Given the description of an element on the screen output the (x, y) to click on. 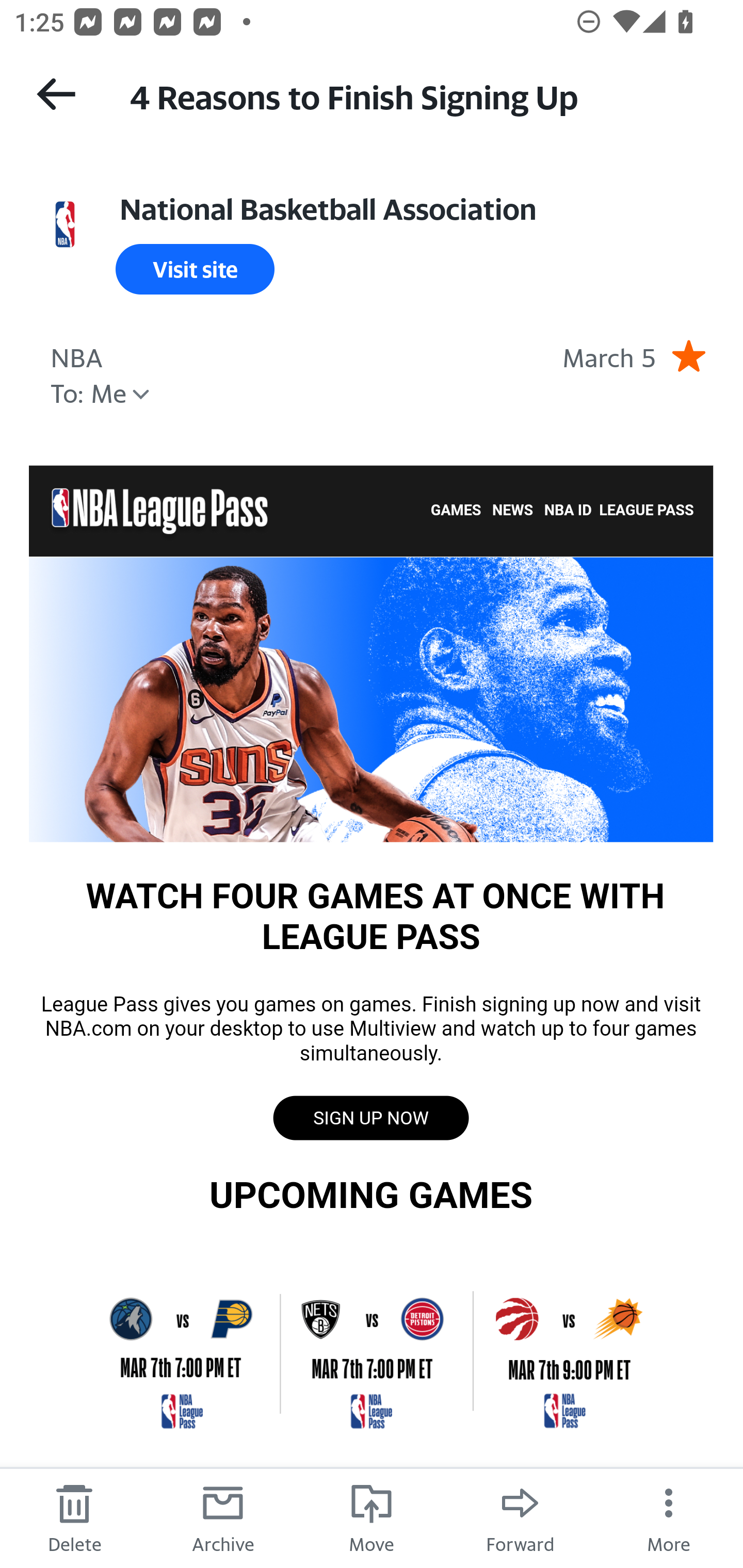
Back (55, 93)
4 Reasons to Finish Signing Up (418, 94)
View all messages from sender (64, 225)
Visit site Visit Site Link (194, 269)
NBA Sender NBA (76, 355)
Remove star. (688, 355)
GAMES (455, 510)
NEWS (512, 510)
NBA ID (567, 510)
LEAGUE PASS (645, 510)
WATCH FOUR GAMES AT ONCE WITH LEAGUE PASS (370, 698)
SIGN UP NOW (370, 1118)
Game Schedule (370, 1352)
Delete (74, 1517)
Archive (222, 1517)
Move (371, 1517)
Forward (519, 1517)
More (668, 1517)
